Given the description of an element on the screen output the (x, y) to click on. 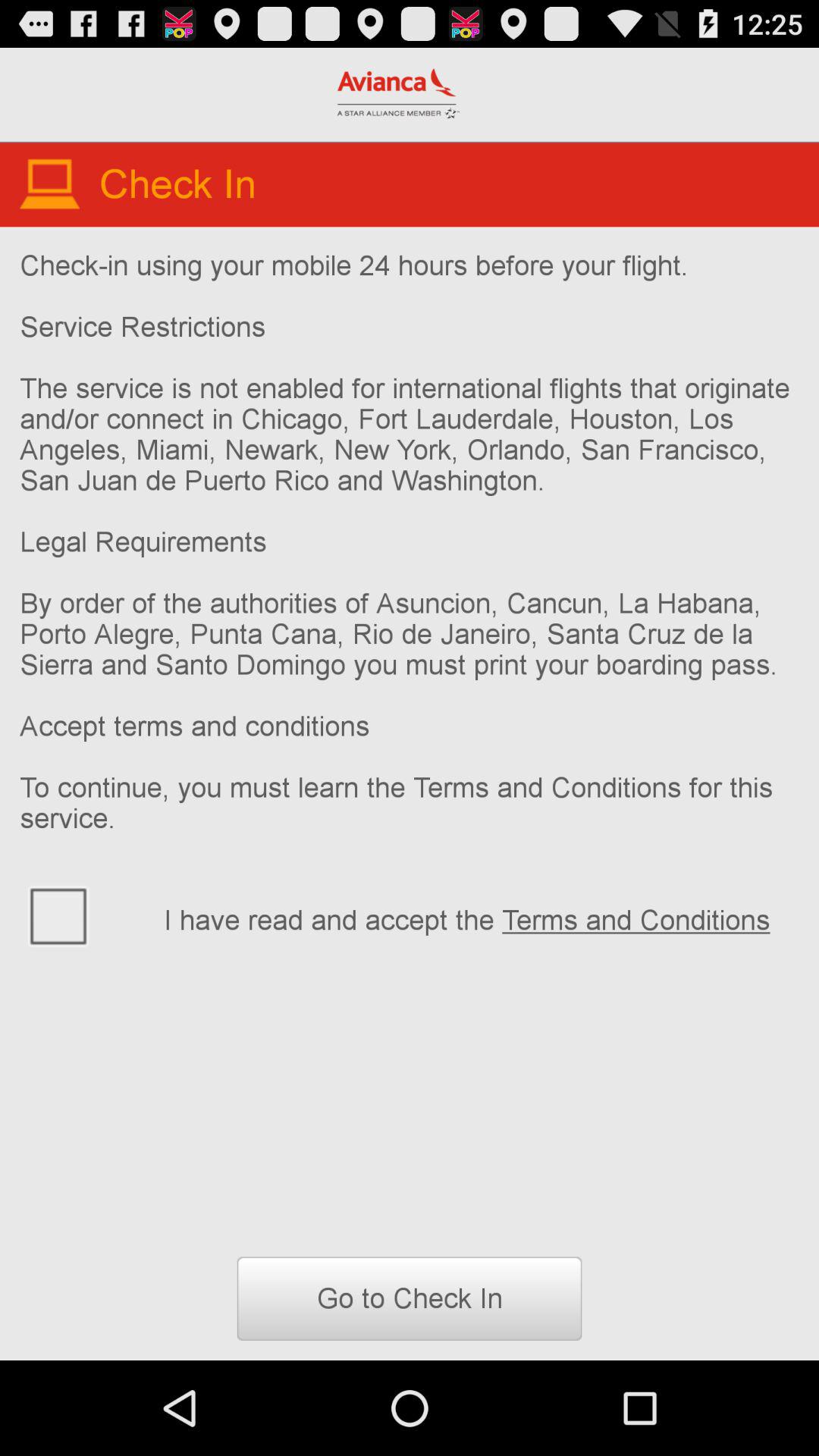
tap icon below i have read icon (409, 1298)
